Given the description of an element on the screen output the (x, y) to click on. 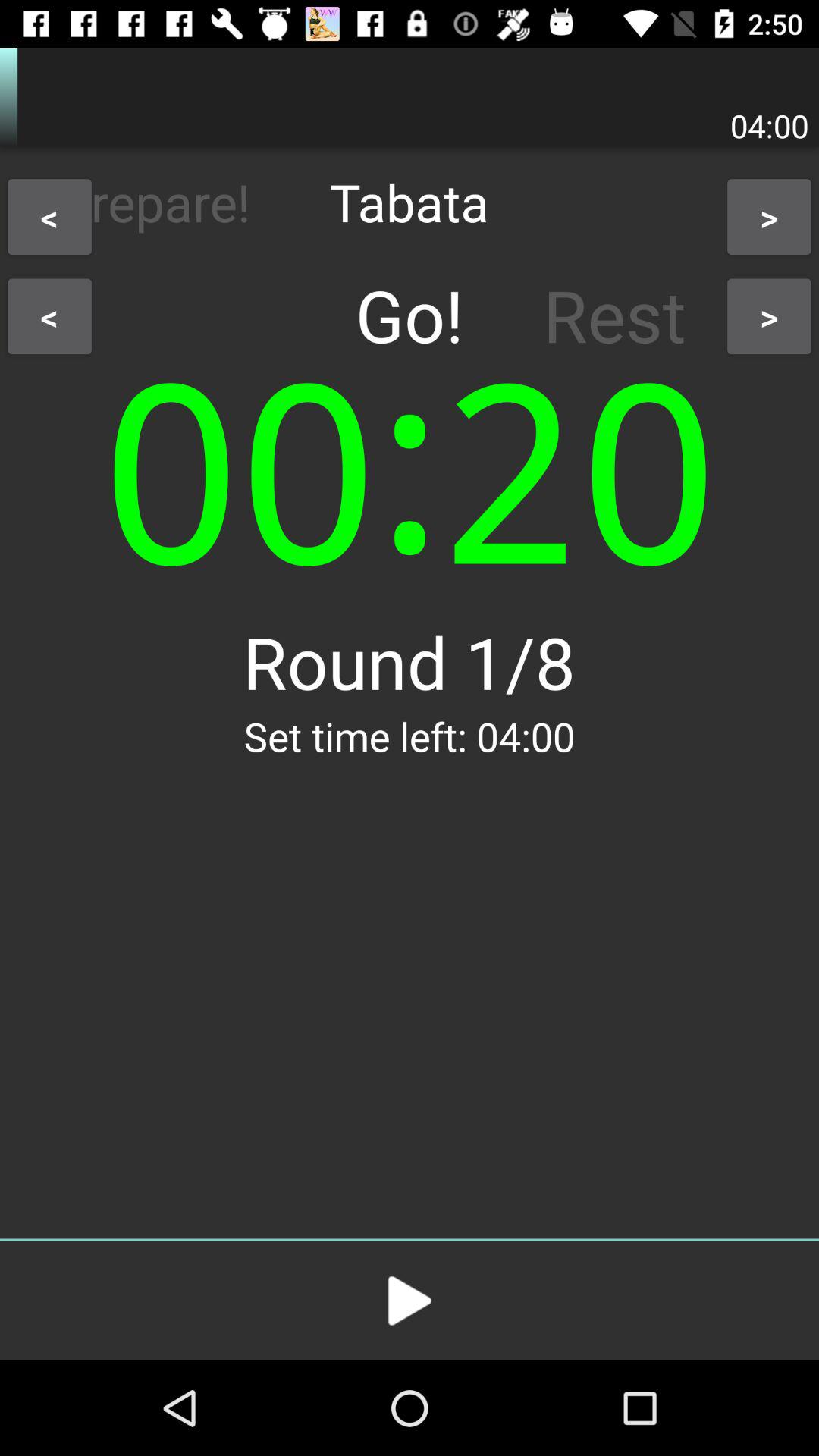
click on icon right to rest (769, 316)
